Given the description of an element on the screen output the (x, y) to click on. 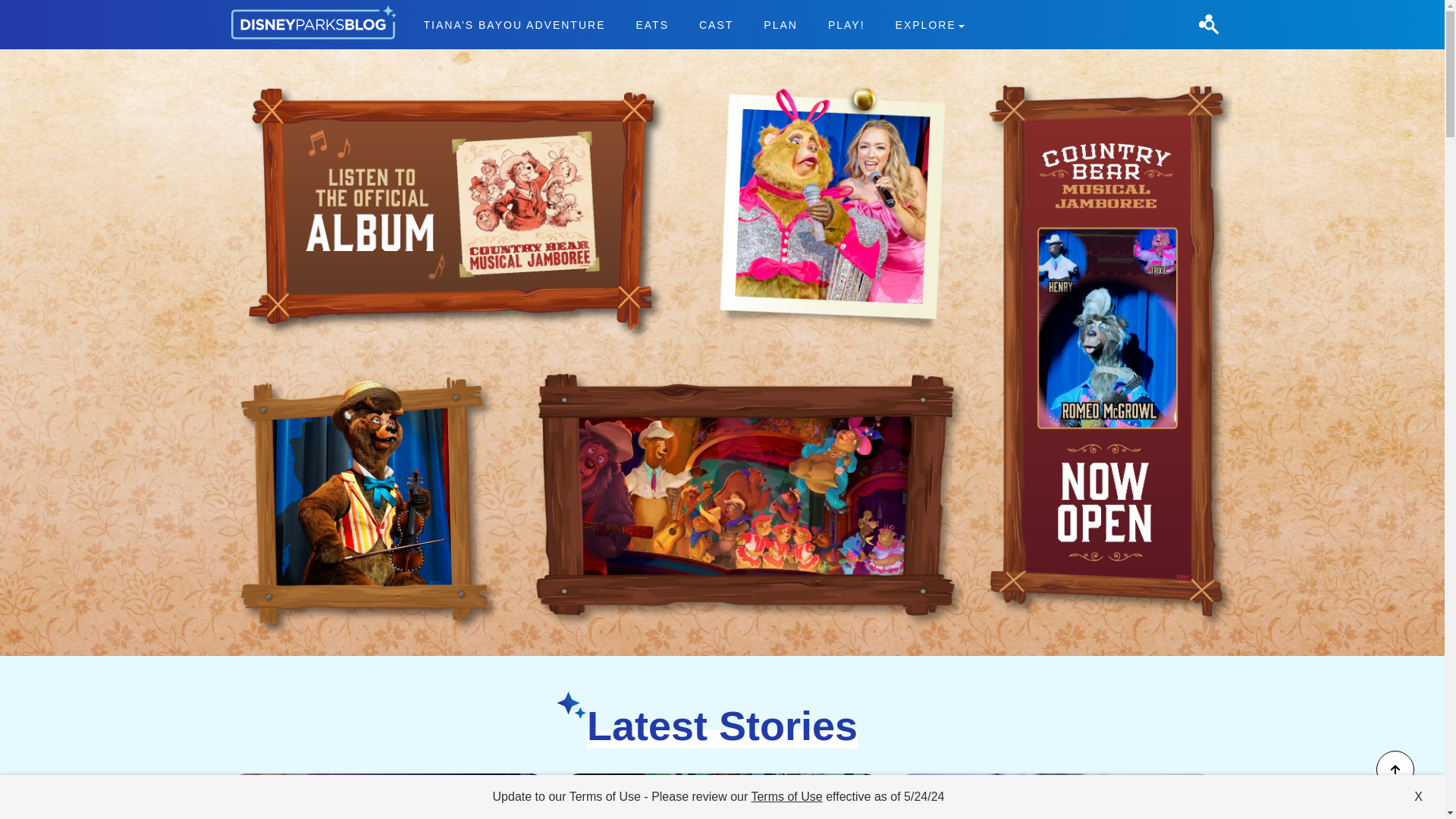
EATS (651, 23)
Terms of Use (786, 796)
EXPLORE (930, 23)
Skip to content (40, 8)
PLAN (781, 23)
CAST (715, 23)
PLAY! (846, 23)
